Given the description of an element on the screen output the (x, y) to click on. 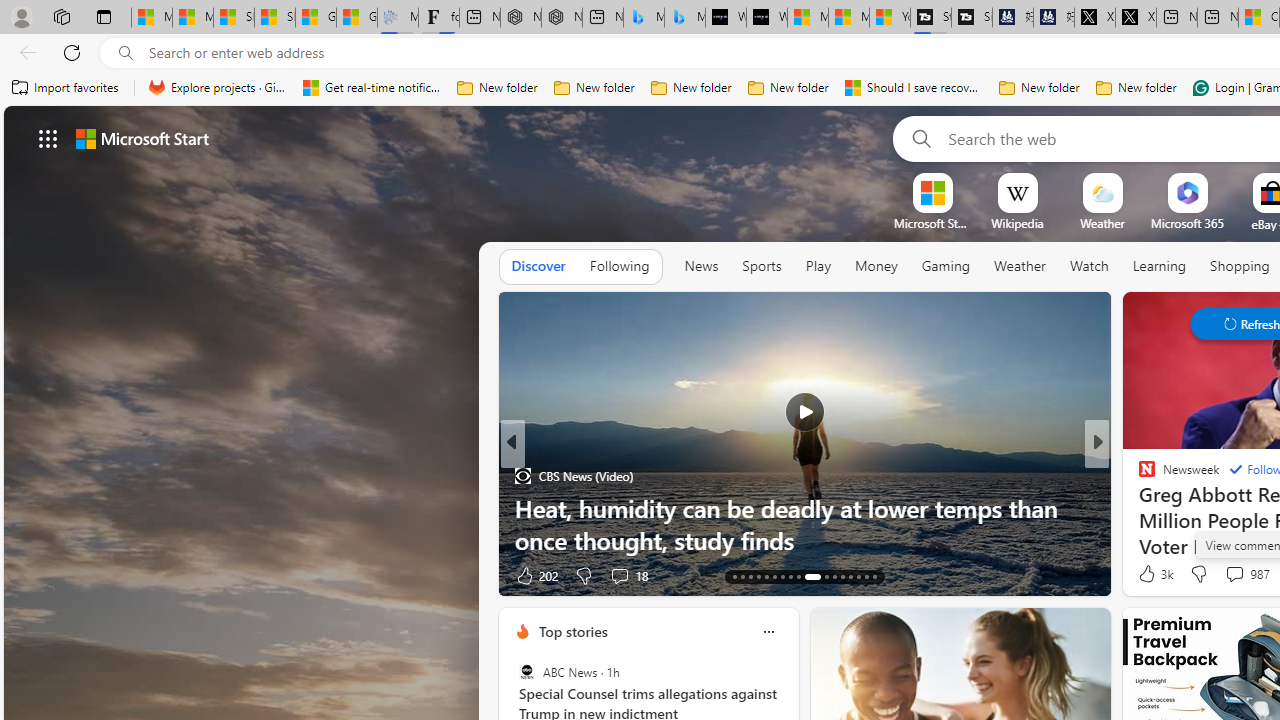
Microsoft Start Sports (932, 223)
Sports (761, 265)
69 Like (1149, 574)
View comments 2 Comment (1229, 575)
241 Like (1151, 574)
Discover (538, 265)
AutomationID: waffle (47, 138)
AutomationID: tab-17 (765, 576)
POLITICO (1138, 475)
Watch (1089, 267)
Play (817, 265)
Streaming Coverage | T3 (931, 17)
View comments 1 Comment (1234, 574)
Nordace - #1 Japanese Best-Seller - Siena Smart Backpack (561, 17)
Watch (1089, 265)
